Given the description of an element on the screen output the (x, y) to click on. 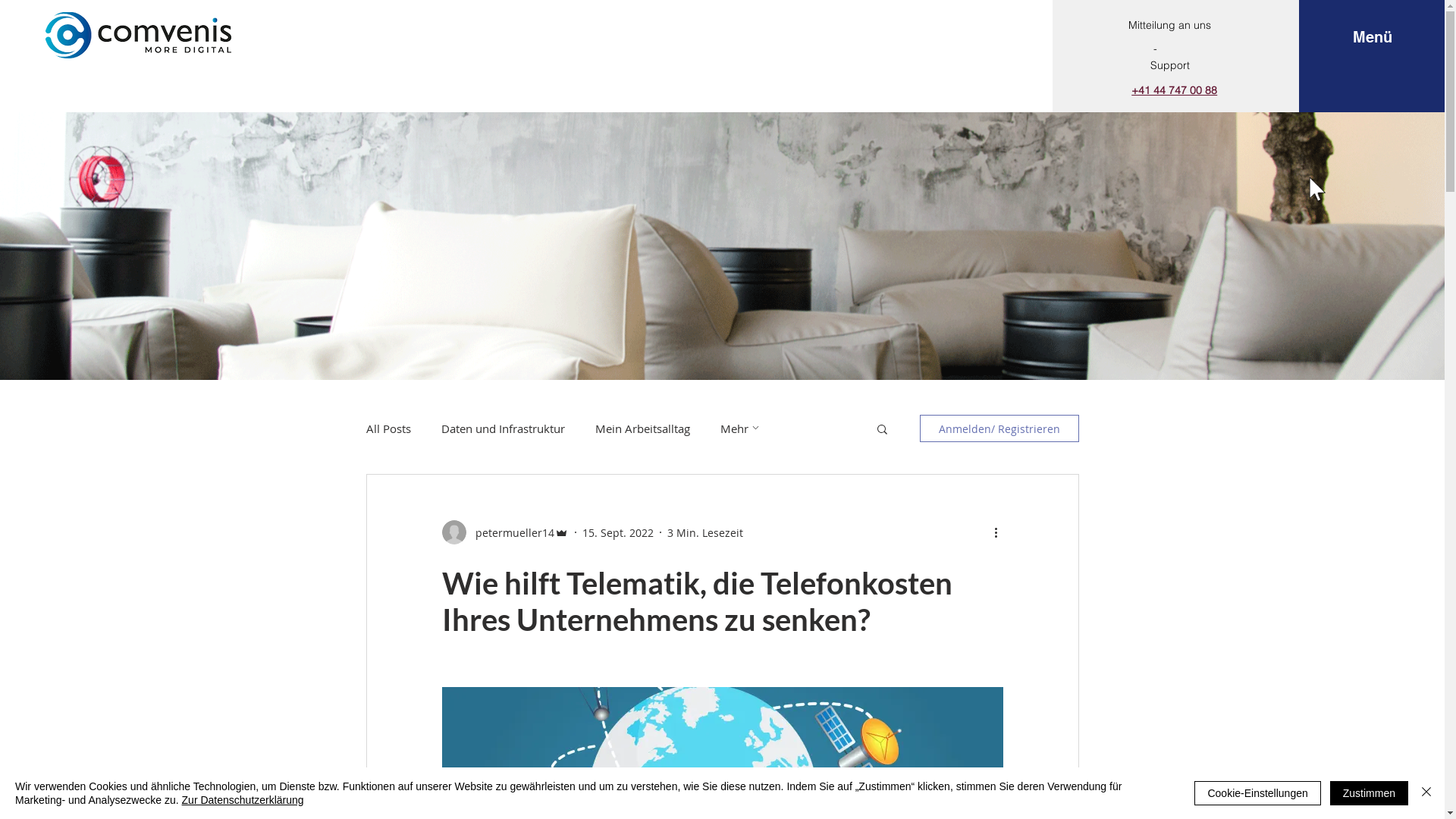
Mein Arbeitsalltag Element type: text (641, 428)
All Posts Element type: text (387, 428)
Zustimmen Element type: text (1369, 793)
+41 44 747 00 88 Element type: text (1174, 89)
Anmelden/ Registrieren Element type: text (998, 428)
Mitteilung an uns Element type: text (1169, 24)
Daten und Infrastruktur Element type: text (502, 428)
Cookie-Einstellungen Element type: text (1257, 793)
 - Support Element type: text (1169, 56)
